Given the description of an element on the screen output the (x, y) to click on. 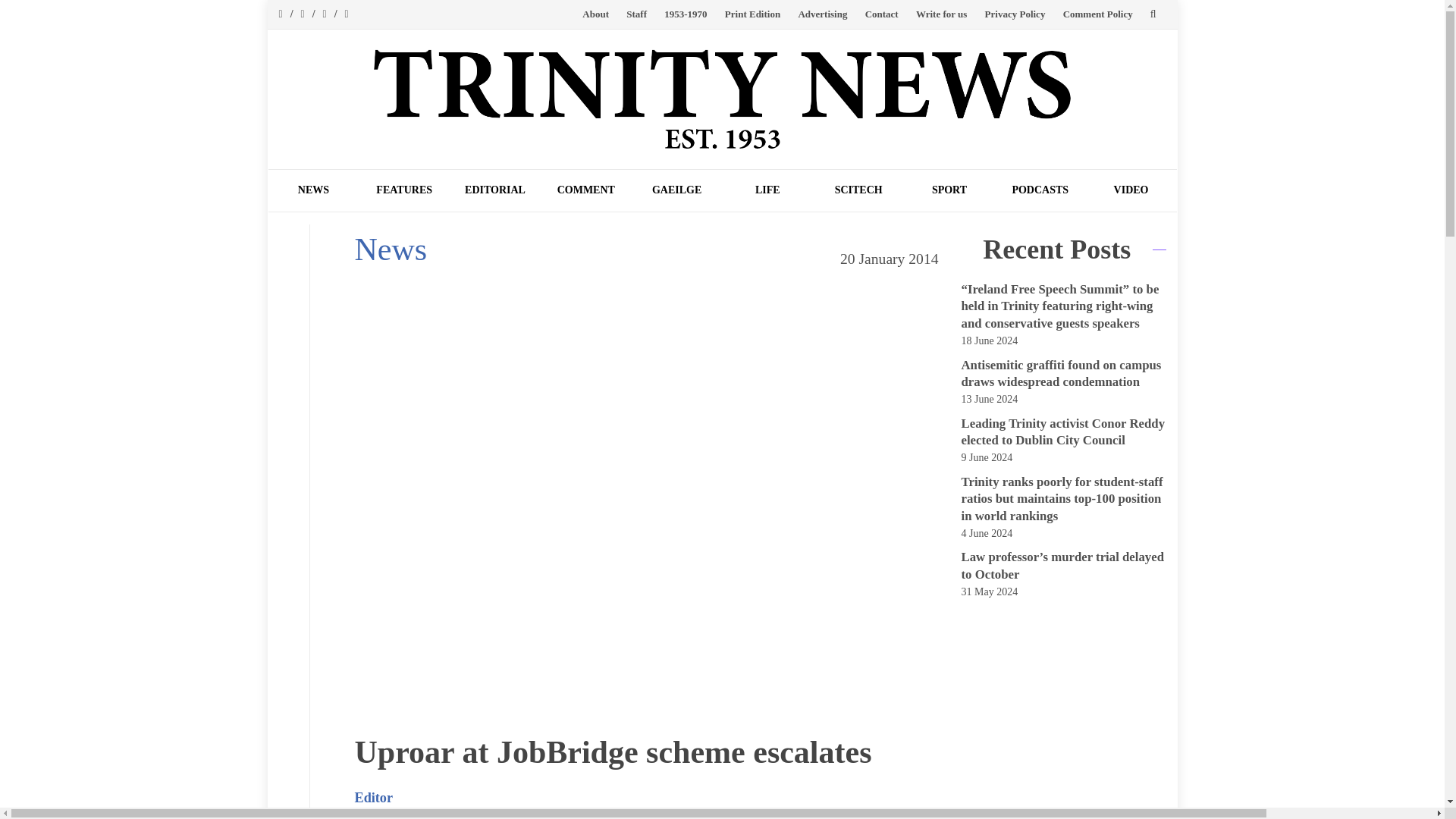
Posts by Editor (374, 797)
FEATURES (403, 190)
Contact (881, 13)
Privacy Policy (1015, 13)
1953-1970 (684, 13)
Print Edition (752, 13)
SCITECH (858, 190)
SPORT (949, 190)
Editor (374, 797)
Staff (636, 13)
PODCASTS (1040, 190)
News (391, 248)
About (595, 13)
